Given the description of an element on the screen output the (x, y) to click on. 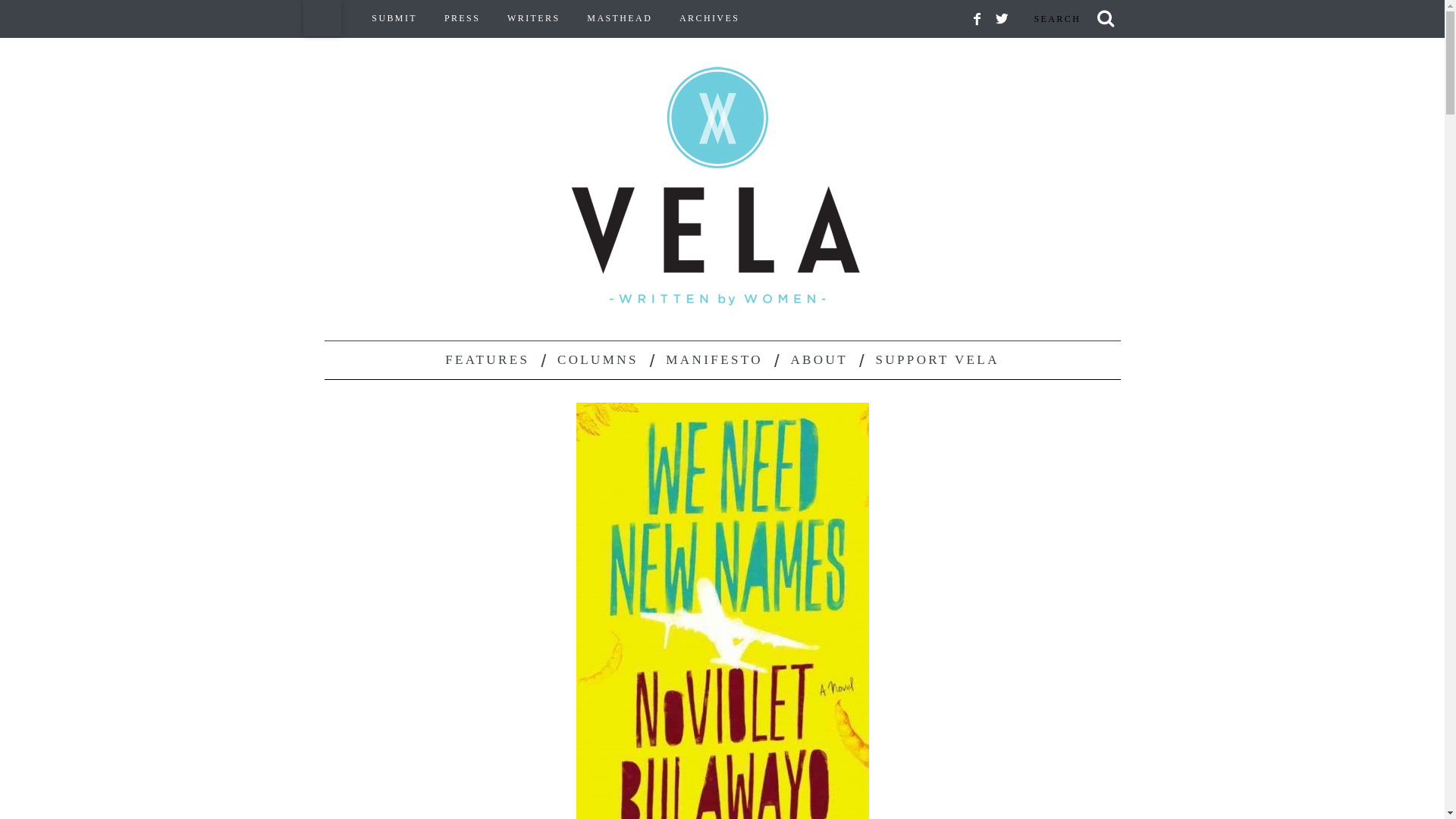
SUBMIT (393, 18)
Search (1071, 18)
PRESS (462, 18)
ARCHIVES (709, 18)
HOME (321, 18)
WRITERS (533, 18)
MASTHEAD (619, 18)
COLUMNS (597, 360)
FEATURES (486, 360)
